Given the description of an element on the screen output the (x, y) to click on. 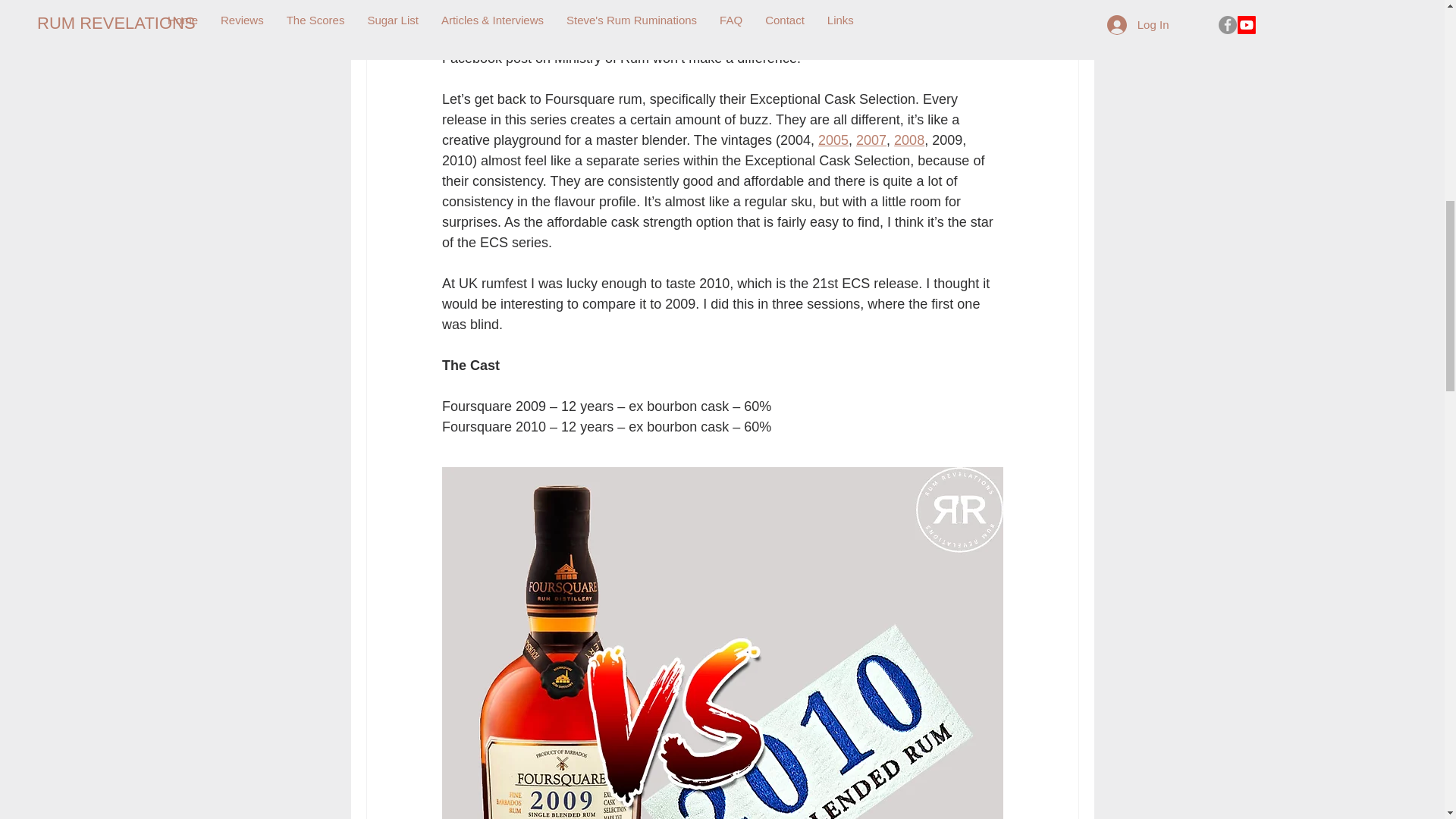
2008 (908, 140)
2007 (871, 140)
2005 (831, 140)
